Given the description of an element on the screen output the (x, y) to click on. 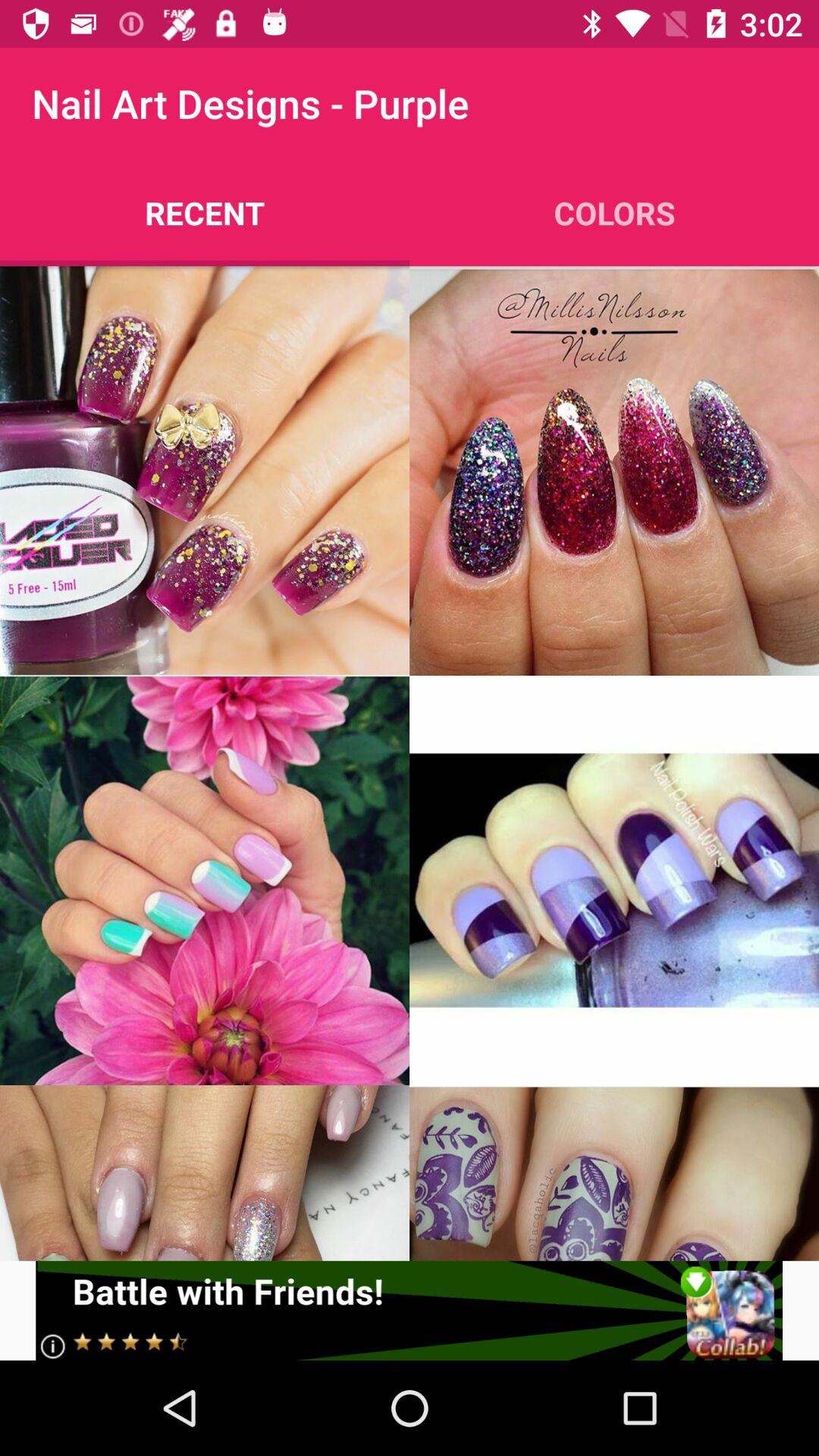
toggle advertisement (408, 1310)
